Given the description of an element on the screen output the (x, y) to click on. 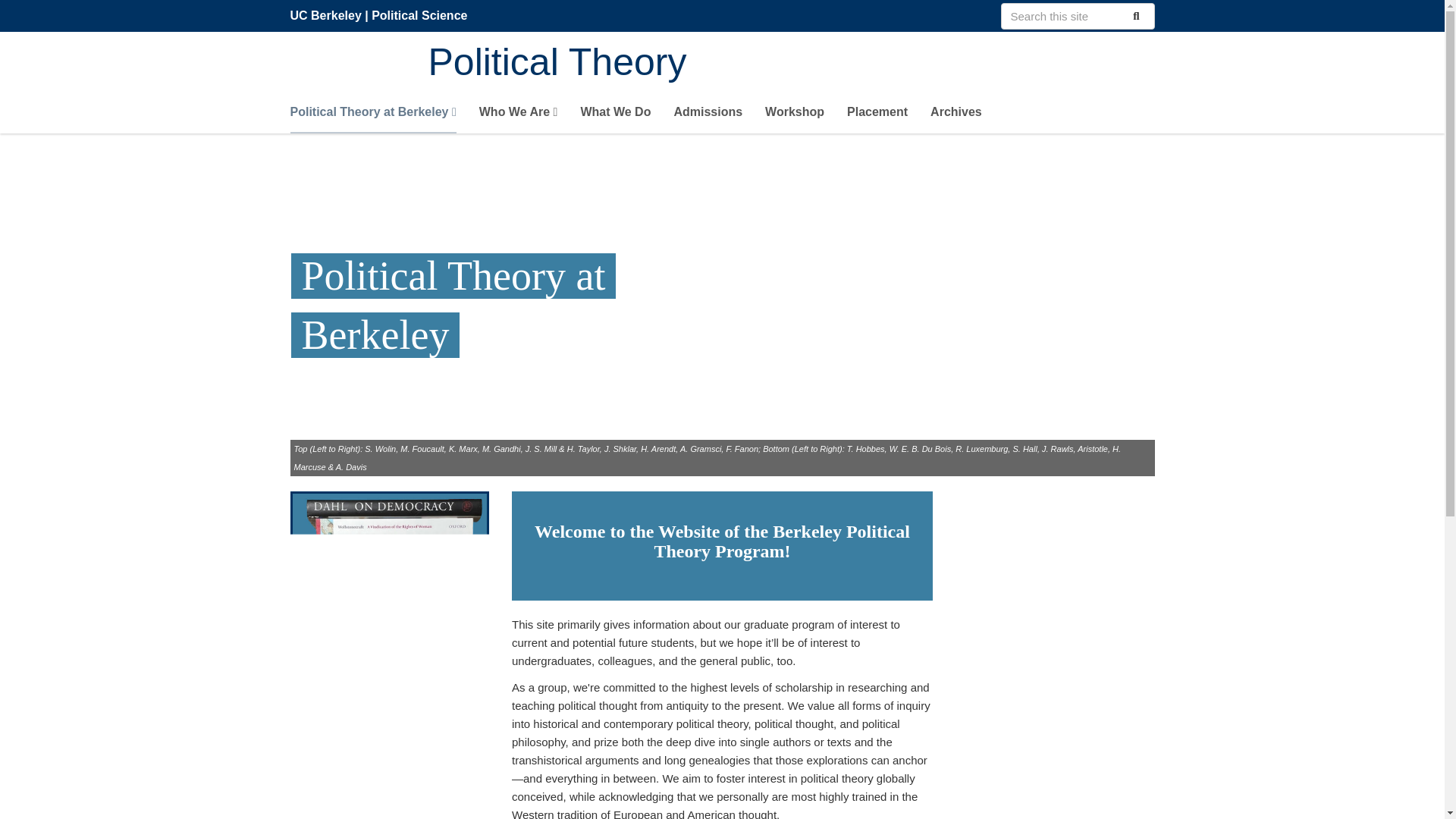
Workshop (794, 115)
Who We Are (518, 115)
What We Do (614, 115)
UC Berkeley (325, 15)
Submit Search (1133, 15)
Political Theory at Berkeley (372, 115)
Political Science (419, 15)
Archives (955, 115)
Placement (877, 115)
